Given the description of an element on the screen output the (x, y) to click on. 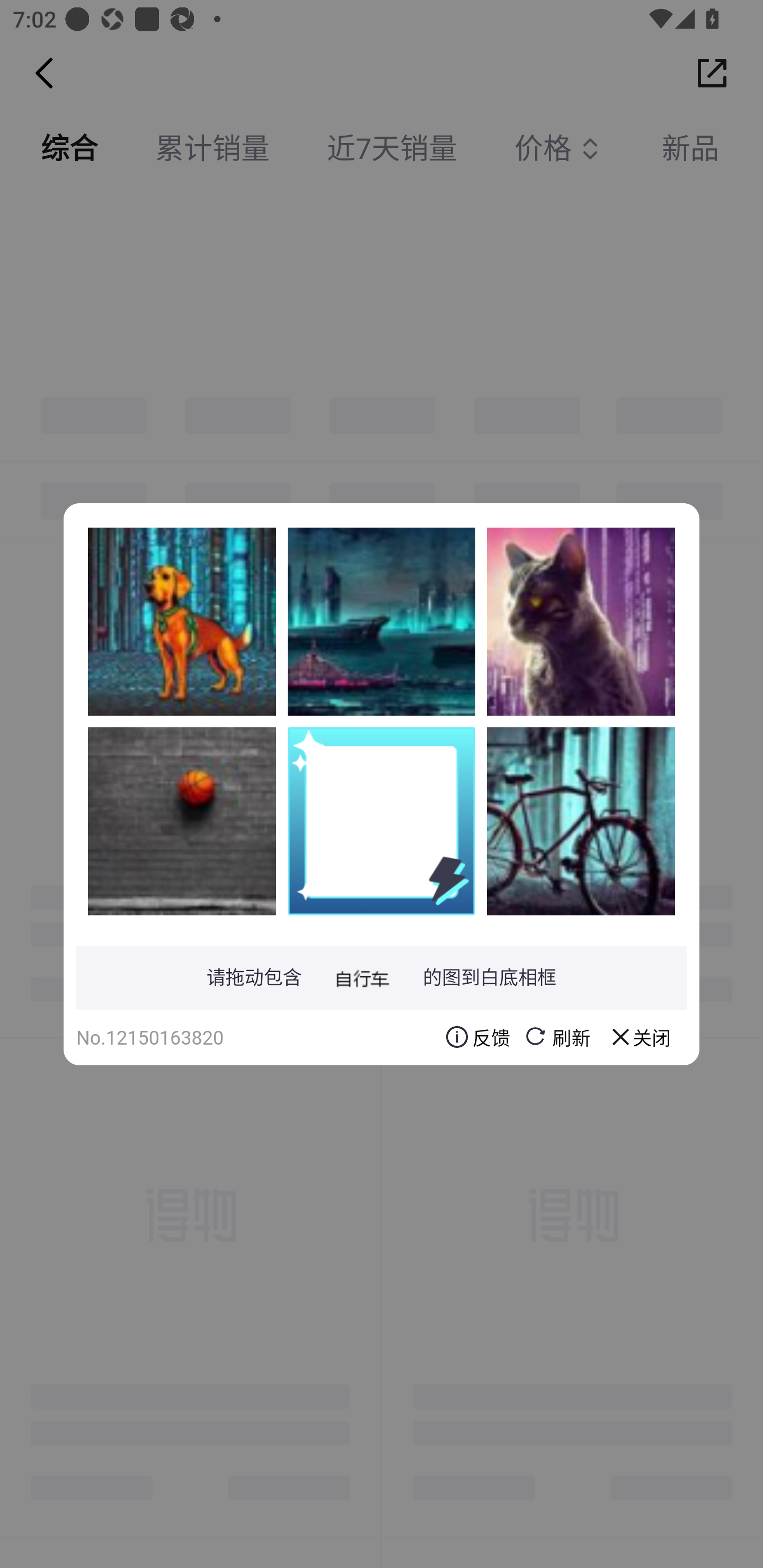
uwumtprSilh (181, 621)
QcCRwKqDEx6pi (181, 820)
